Given the description of an element on the screen output the (x, y) to click on. 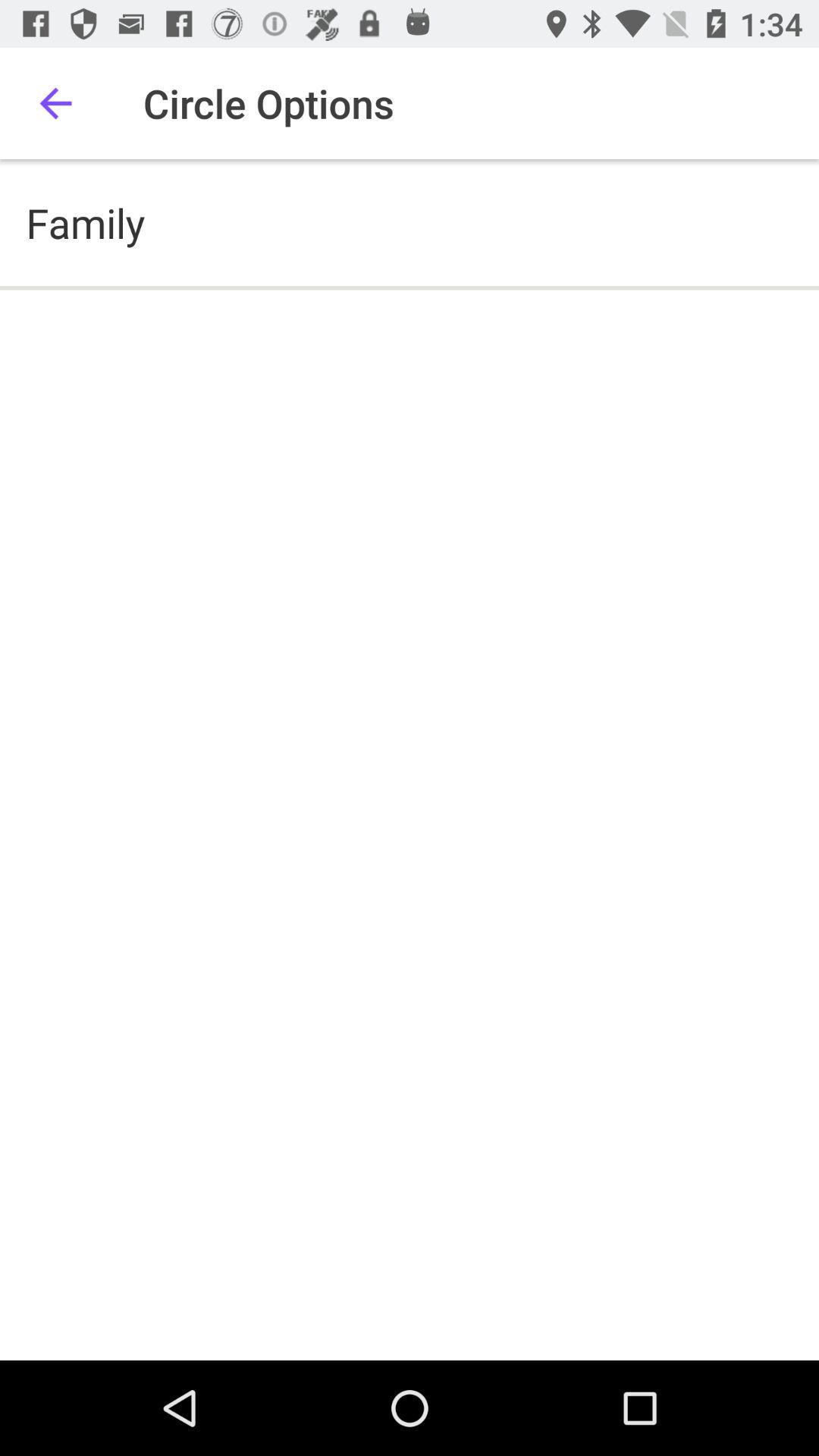
press the icon next to circle options icon (55, 103)
